Given the description of an element on the screen output the (x, y) to click on. 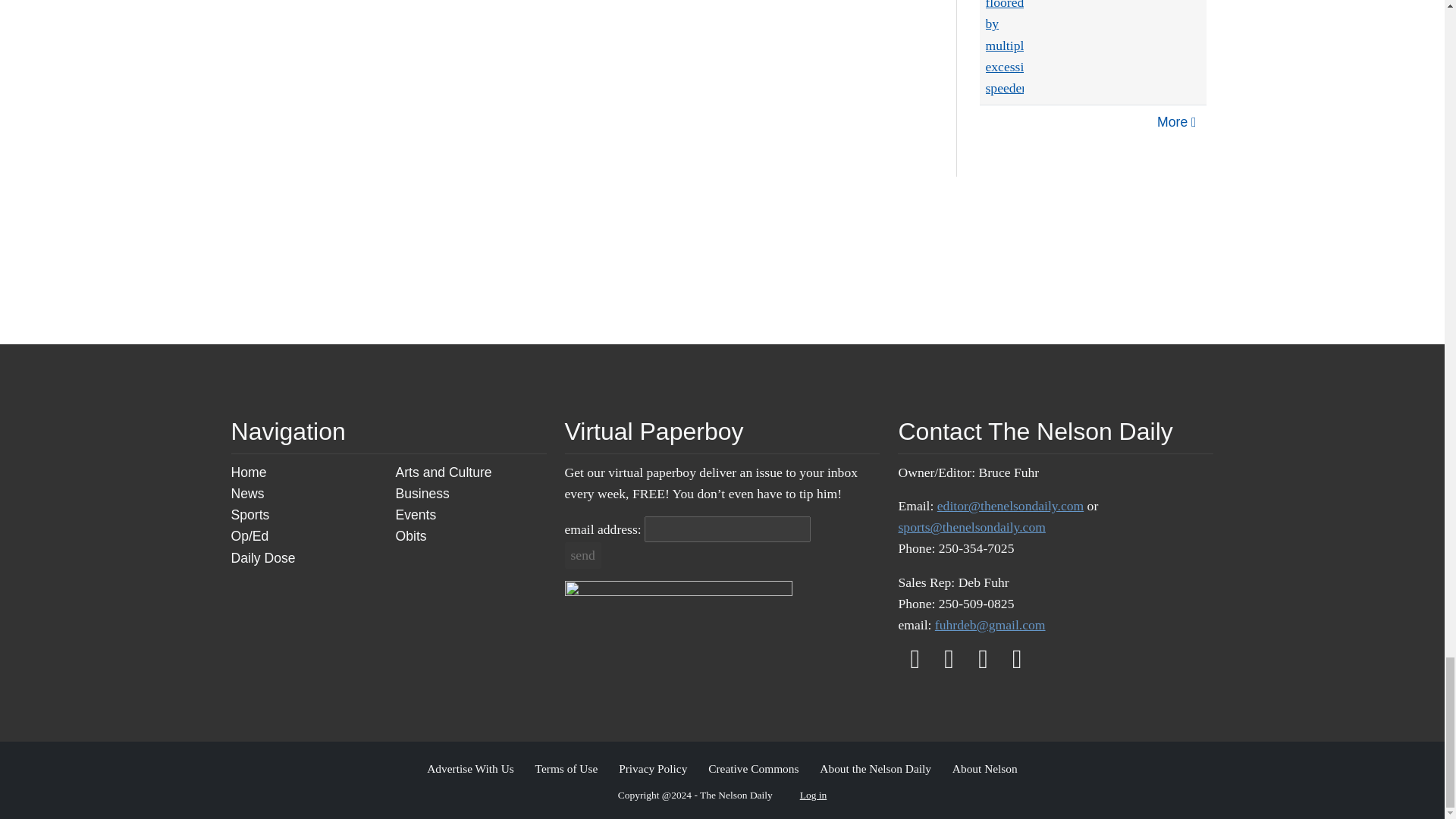
send (581, 555)
3rd party ad content (721, 259)
3rd party ad content (891, 259)
3rd party ad content (551, 259)
